Given the description of an element on the screen output the (x, y) to click on. 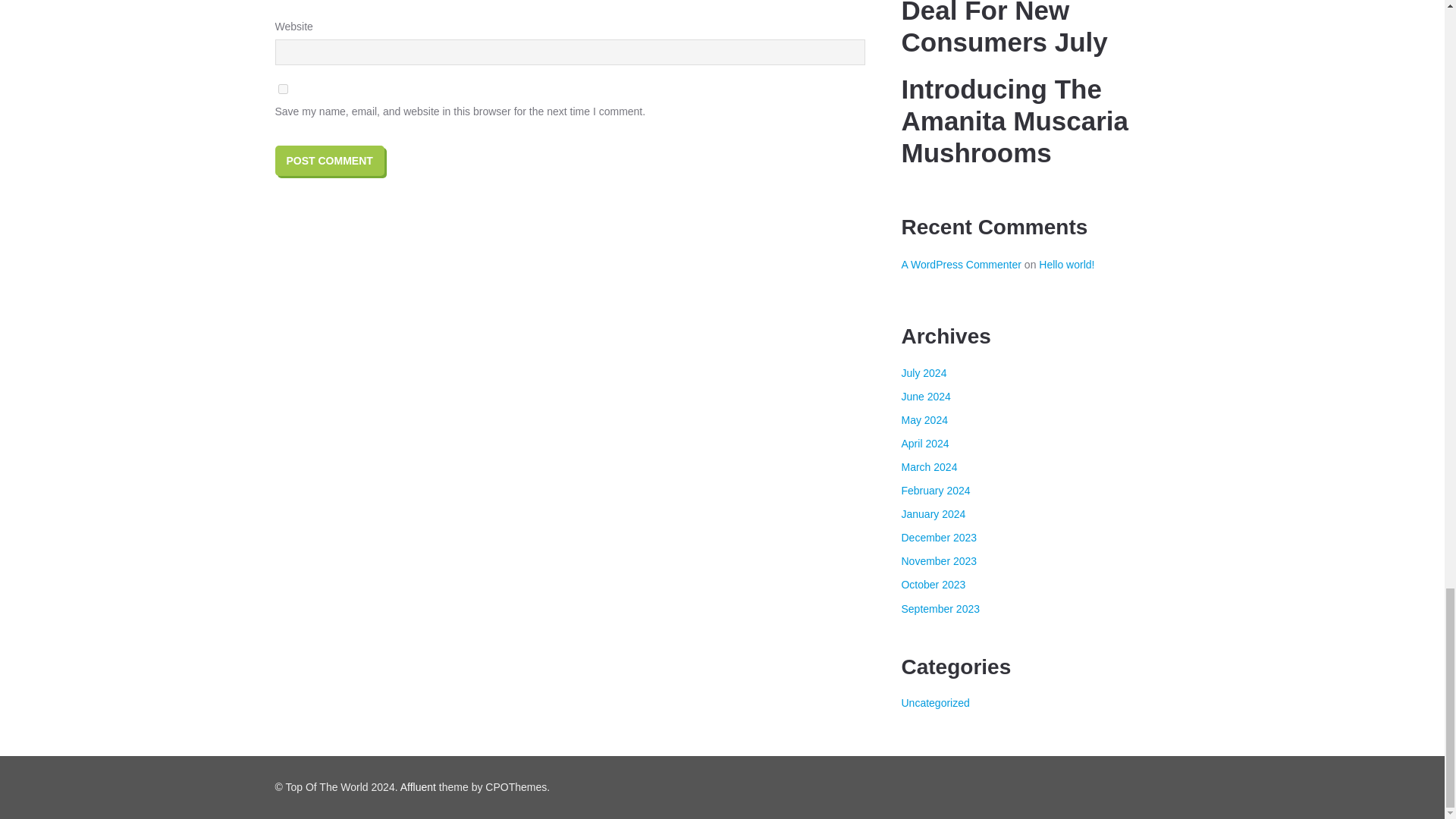
Post Comment (329, 160)
Post Comment (329, 160)
yes (282, 89)
